Given the description of an element on the screen output the (x, y) to click on. 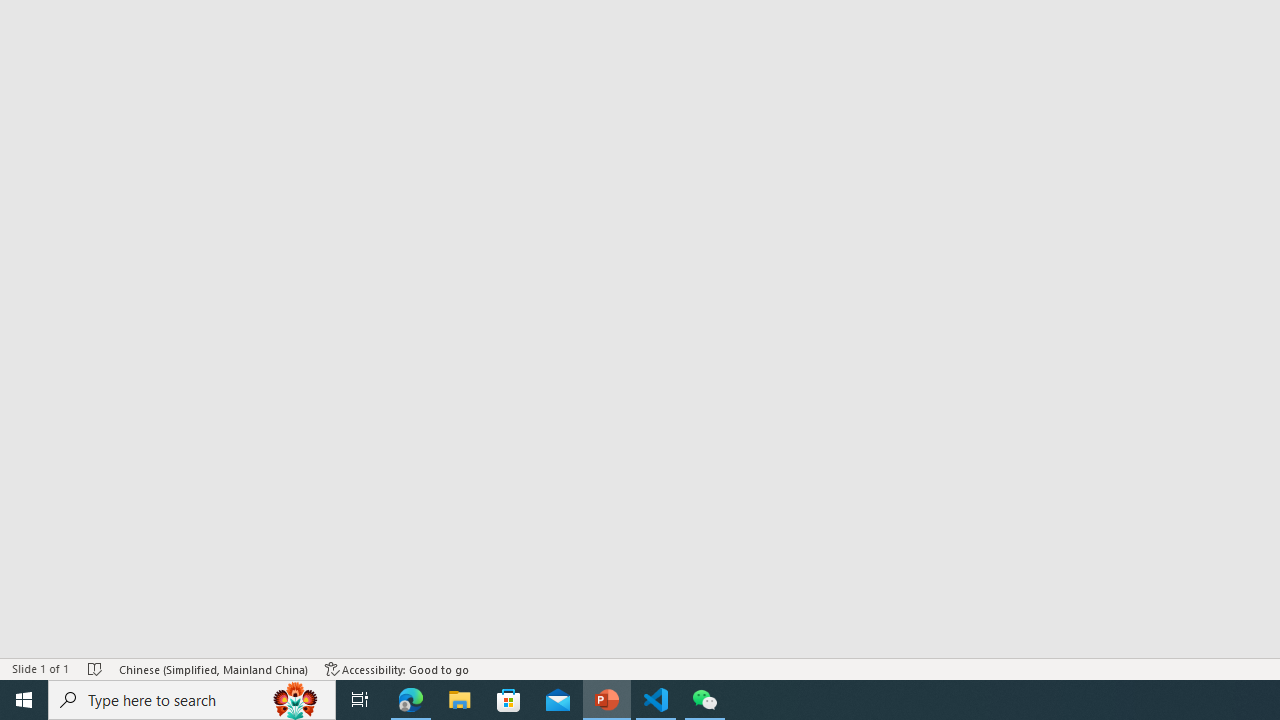
Accessibility Checker Accessibility: Good to go (397, 668)
